Given the description of an element on the screen output the (x, y) to click on. 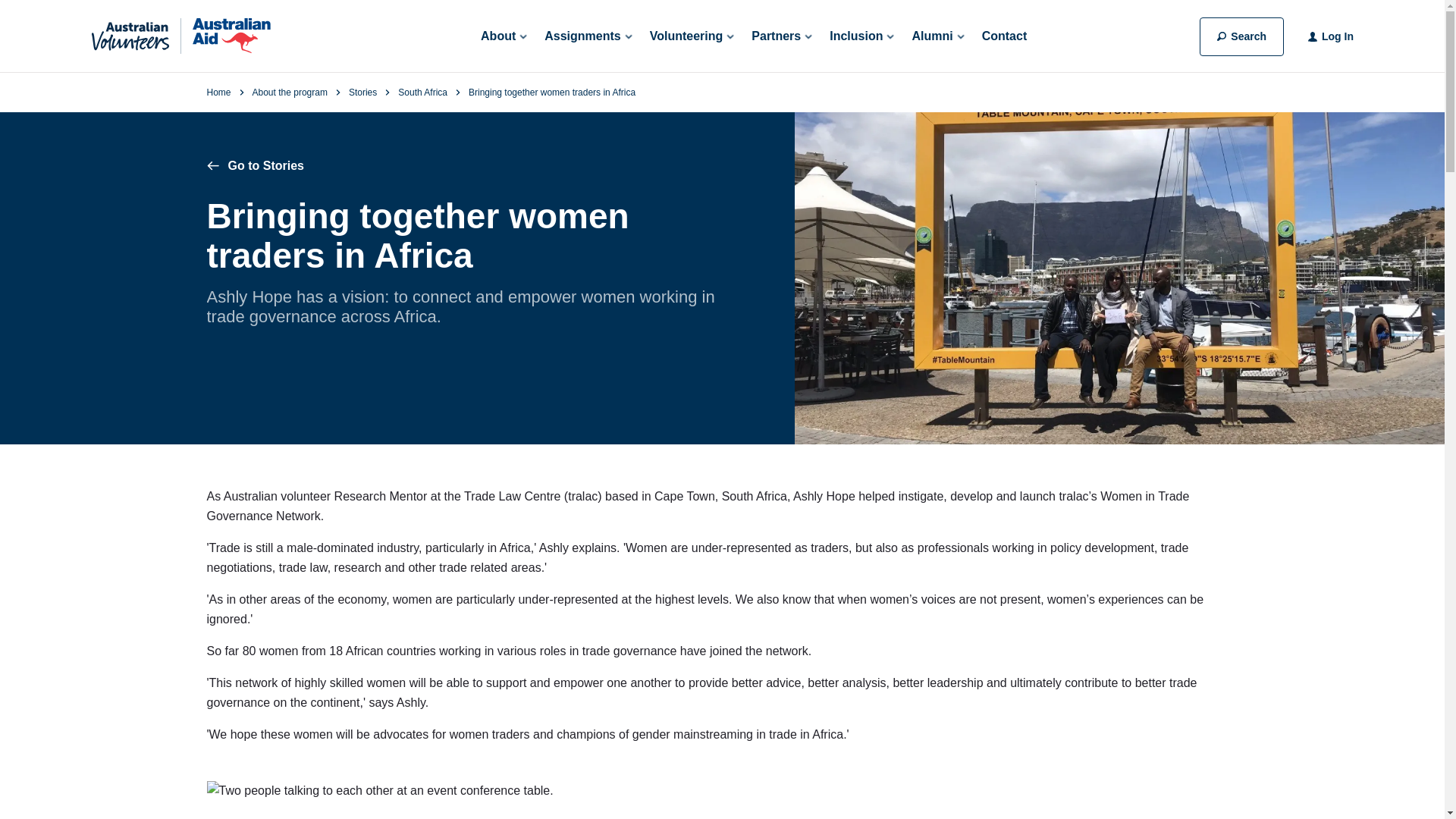
Go to Stories (254, 165)
South Africa (421, 91)
Alumni (936, 36)
Home (218, 91)
About the program (289, 91)
Search (1241, 35)
Stories (363, 91)
Assignments (587, 36)
Log In (1338, 36)
Inclusion (861, 36)
Volunteering (691, 36)
About (502, 36)
Log In (1330, 36)
Partners (780, 36)
Contact (1004, 36)
